Given the description of an element on the screen output the (x, y) to click on. 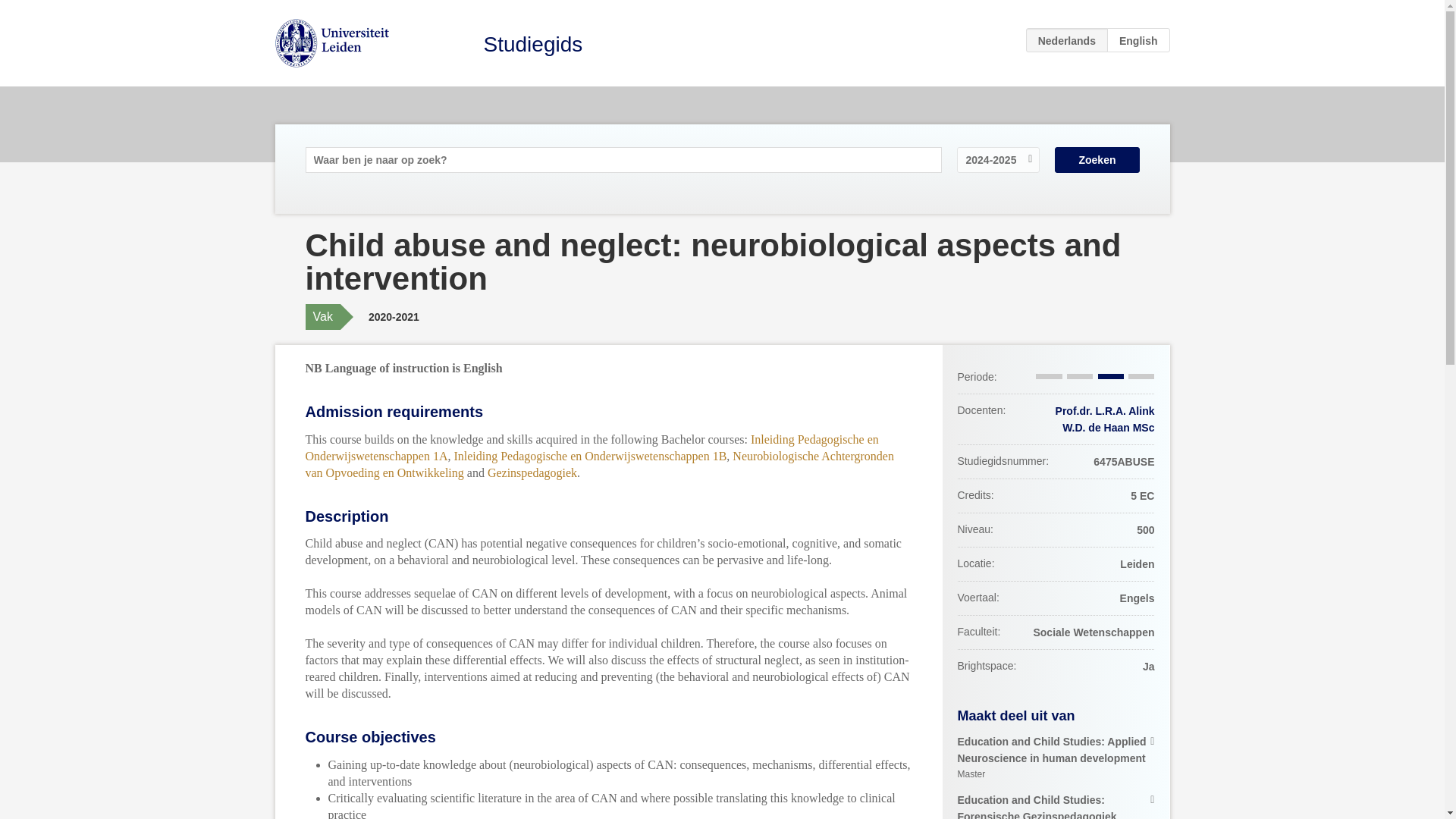
Zoeken (1096, 159)
EN (1138, 39)
Prof.dr. L.R.A. Alink (1104, 410)
W.D. de Haan MSc (1108, 427)
Neurobiologische Achtergronden van Opvoeding en Ontwikkeling (598, 463)
Studiegids (533, 44)
Gezinspedagogiek (531, 472)
Inleiding Pedagogische en Onderwijswetenschappen 1B (589, 454)
Inleiding Pedagogische en Onderwijswetenschappen 1A (590, 446)
